Given the description of an element on the screen output the (x, y) to click on. 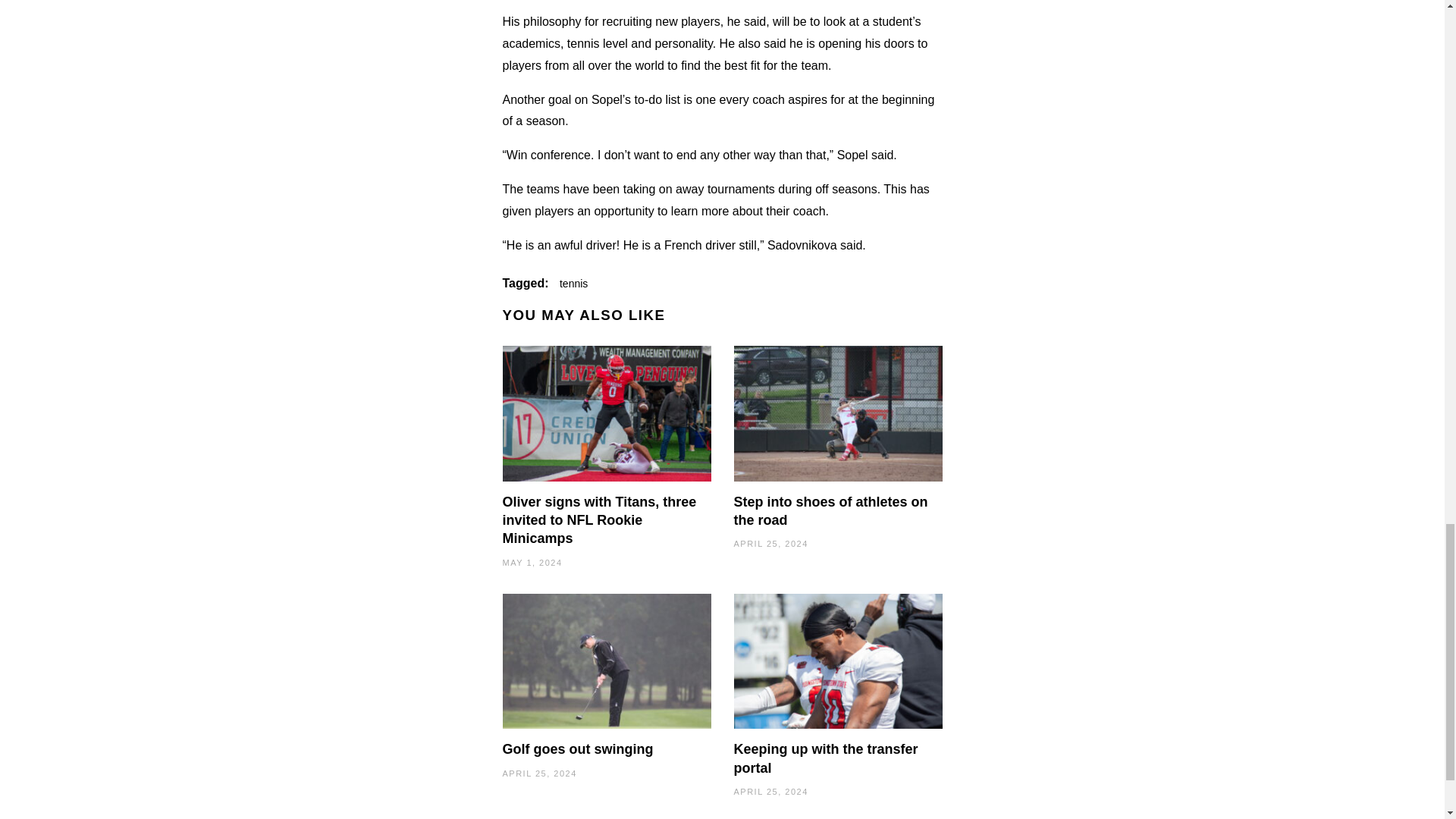
Golf goes out swinging (577, 749)
Keeping up with the transfer portal (825, 758)
Step into shoes of athletes on the road (830, 510)
tennis (573, 283)
